Given the description of an element on the screen output the (x, y) to click on. 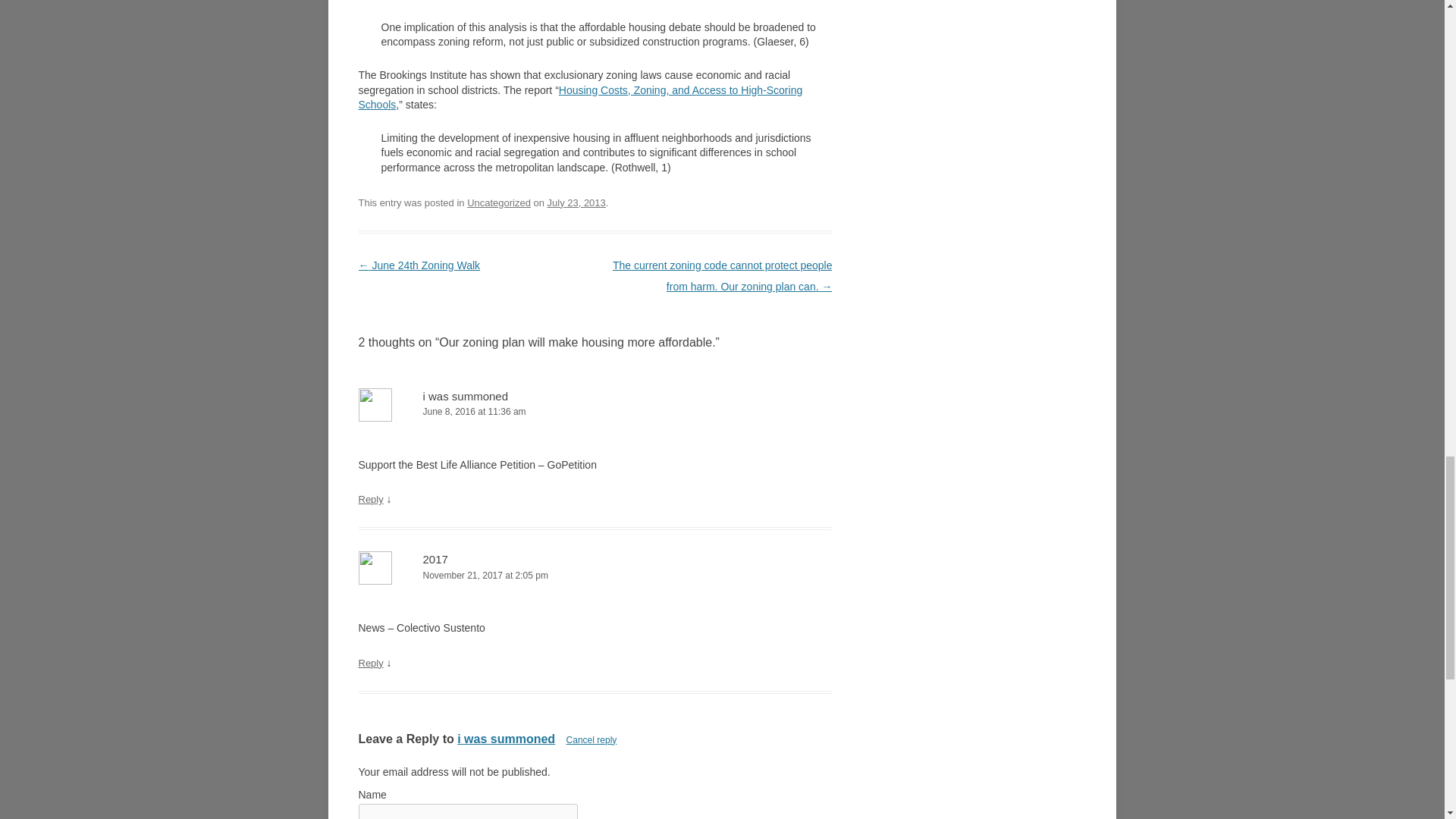
November 21, 2017 at 2:05 pm (594, 575)
i was summoned (505, 738)
View all posts in Uncategorized (499, 202)
9:53 pm (576, 202)
2017 (435, 558)
i was summoned (465, 395)
June 8, 2016 at 11:36 am (594, 412)
Uncategorized (499, 202)
July 23, 2013 (576, 202)
Reply (370, 499)
Housing Costs, Zoning, and Access to High-Scoring Schools (580, 97)
Reply (370, 663)
Cancel reply (591, 739)
